Given the description of an element on the screen output the (x, y) to click on. 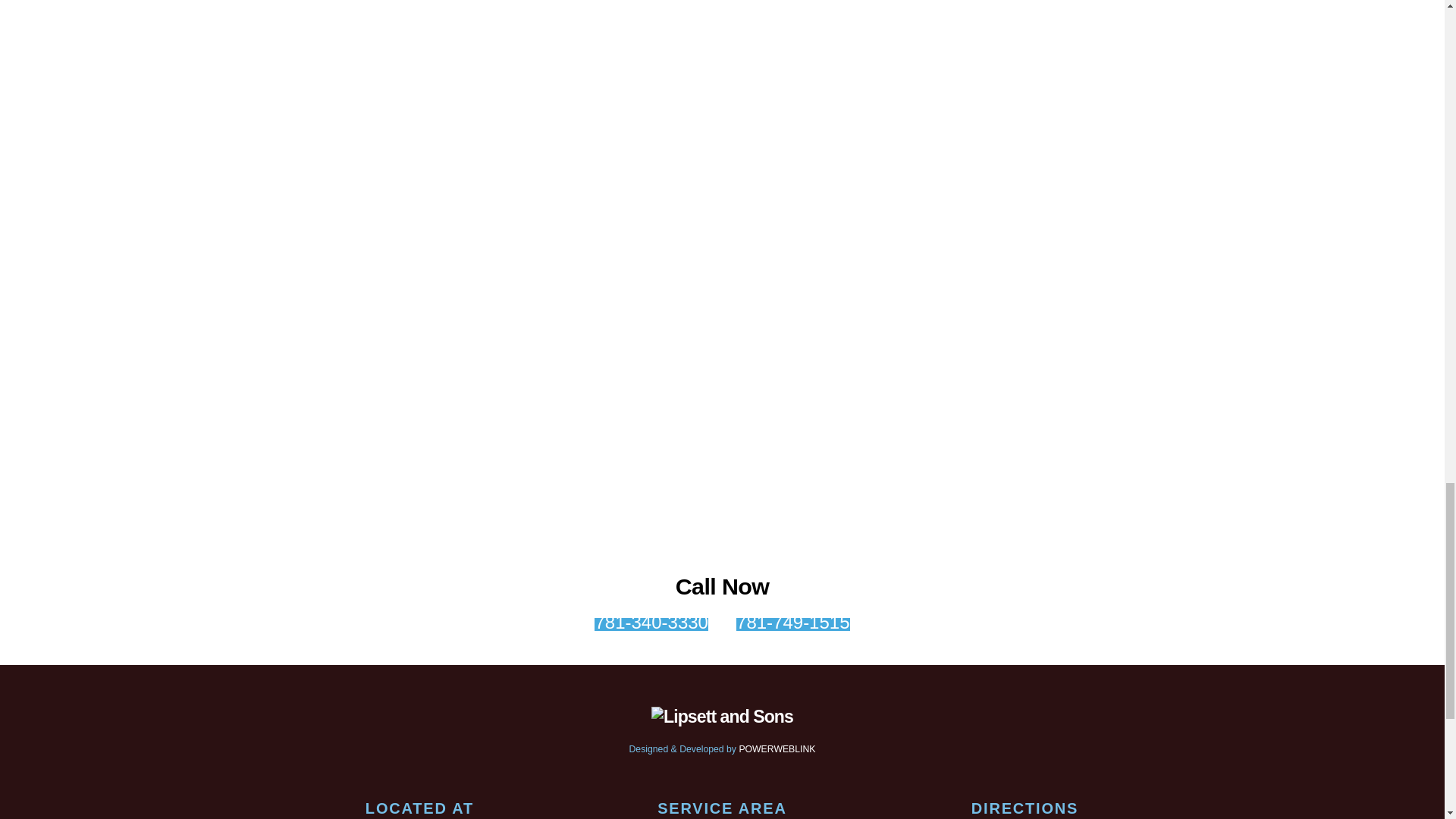
POWERWEBLINK (776, 748)
Lipsett and Sons (721, 716)
781-340-3330 (650, 624)
781-749-1515 (792, 624)
